Given the description of an element on the screen output the (x, y) to click on. 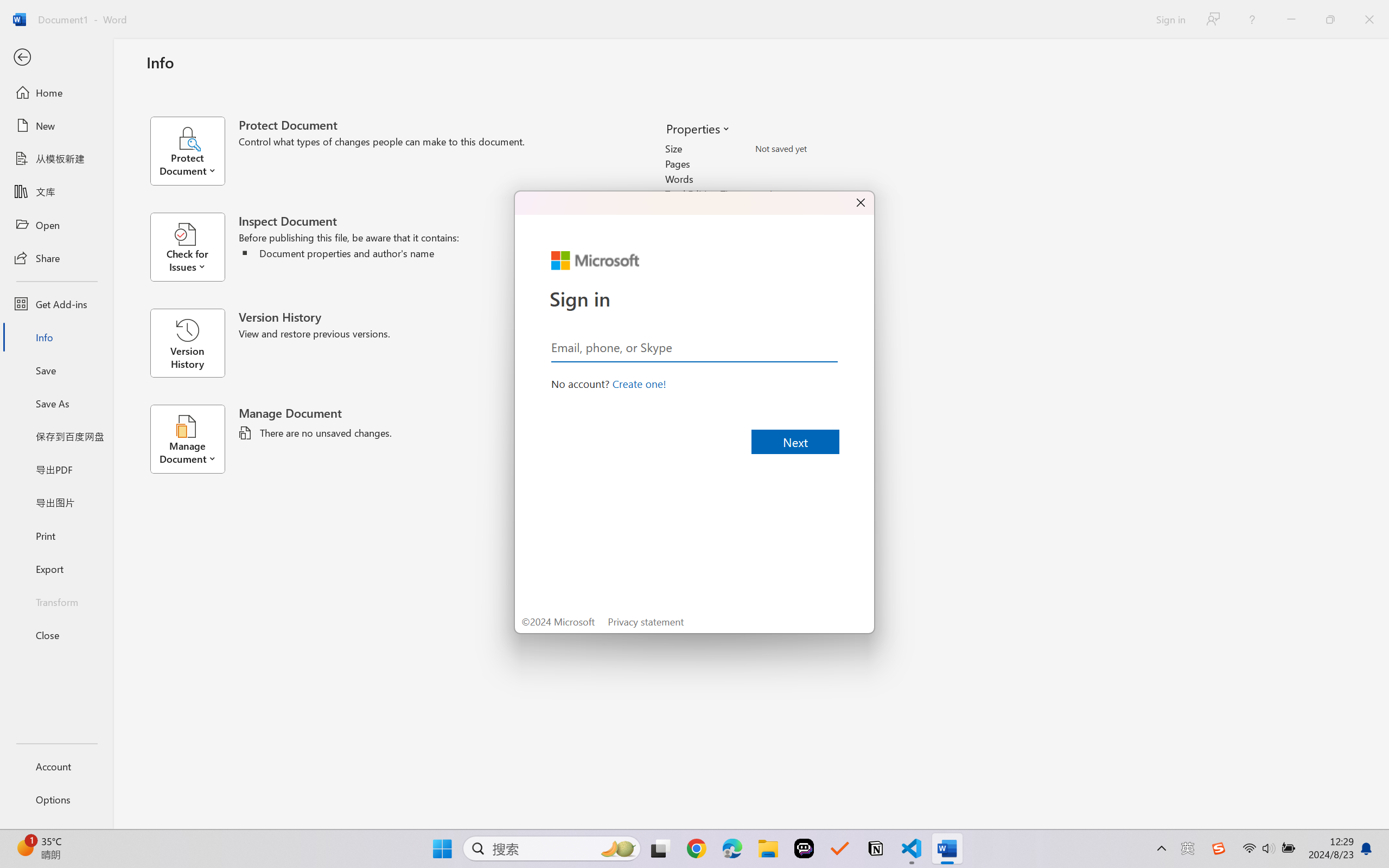
Get Add-ins (56, 303)
Manage Document (194, 438)
Account (56, 765)
Print (56, 535)
